Given the description of an element on the screen output the (x, y) to click on. 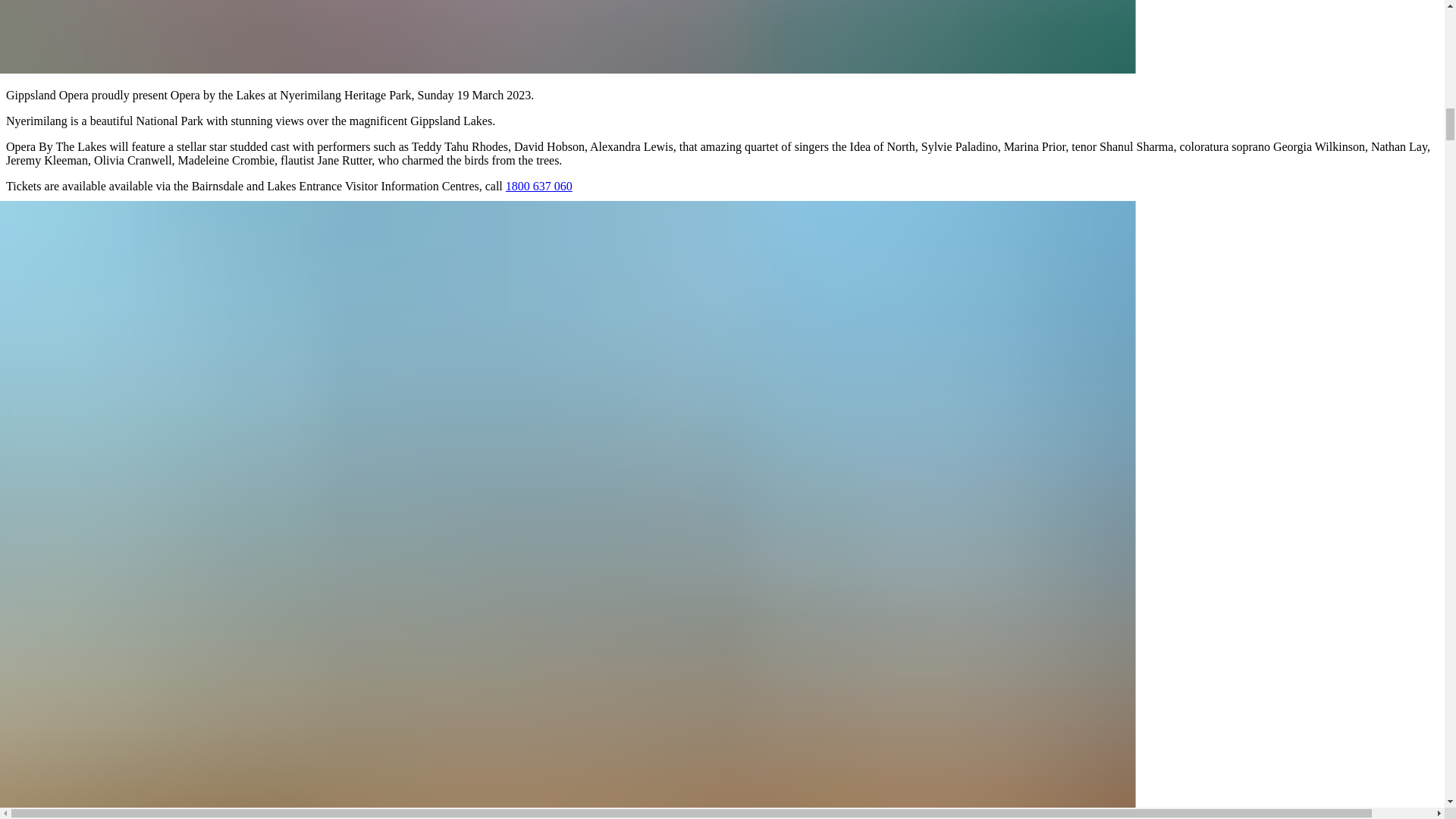
1800 637 060 (538, 185)
Visit Opera By the Lakes' website (87, 211)
